Given the description of an element on the screen output the (x, y) to click on. 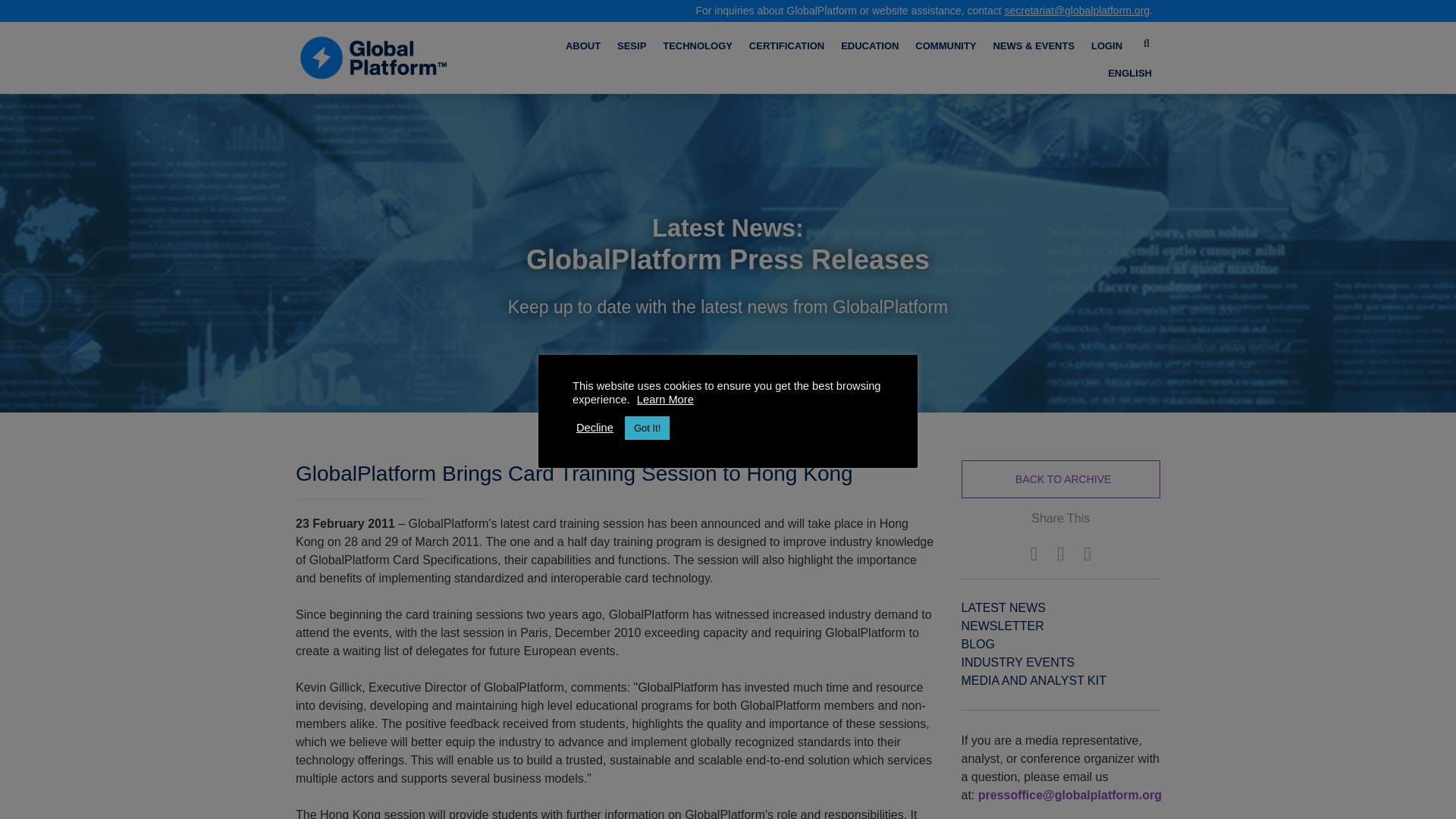
CERTIFICATION (785, 46)
SESIP (631, 46)
TECHNOLOGY (697, 46)
ABOUT (583, 46)
